Given the description of an element on the screen output the (x, y) to click on. 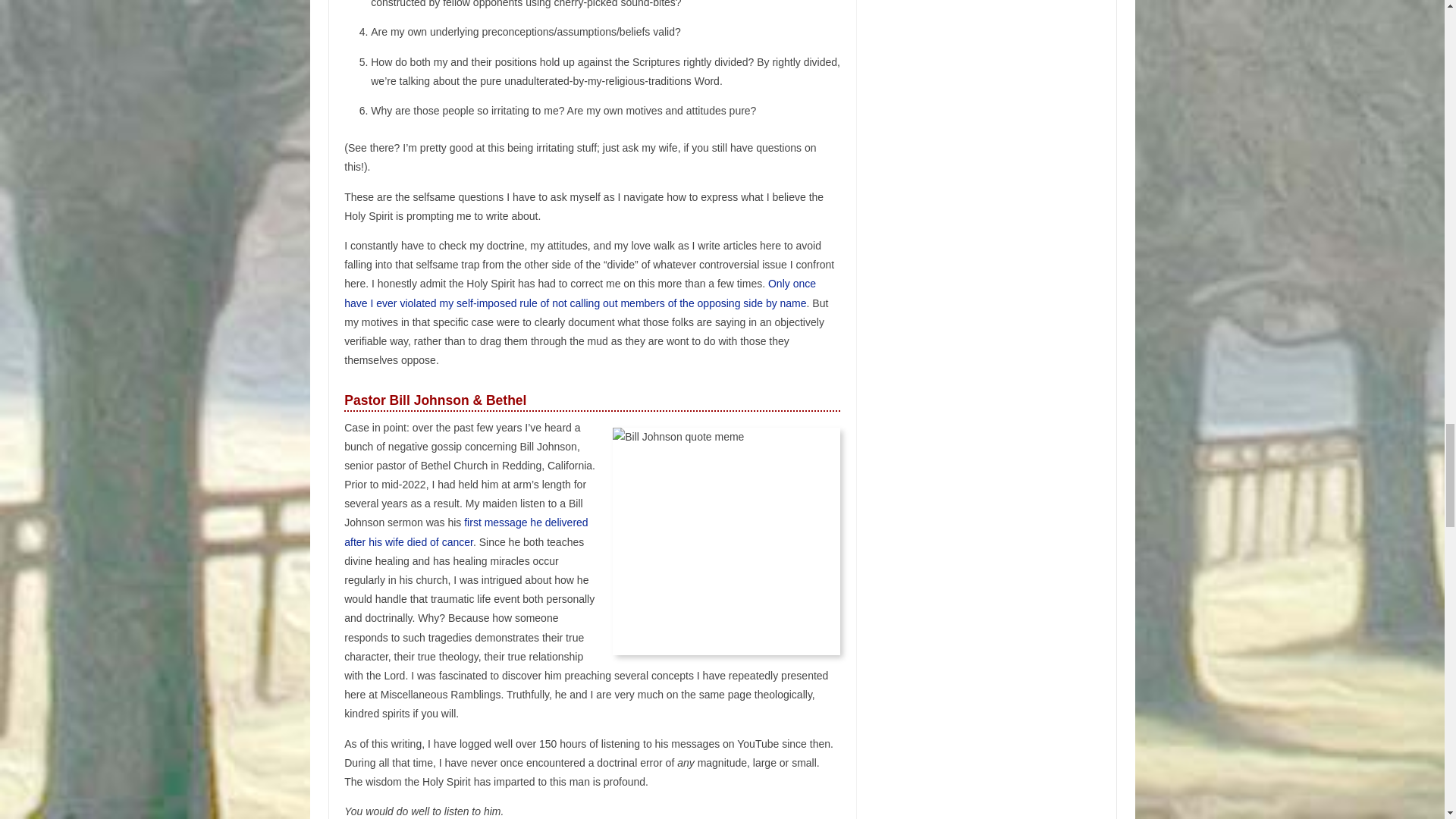
first message he delivered after his wife died of cancer (465, 531)
